Given the description of an element on the screen output the (x, y) to click on. 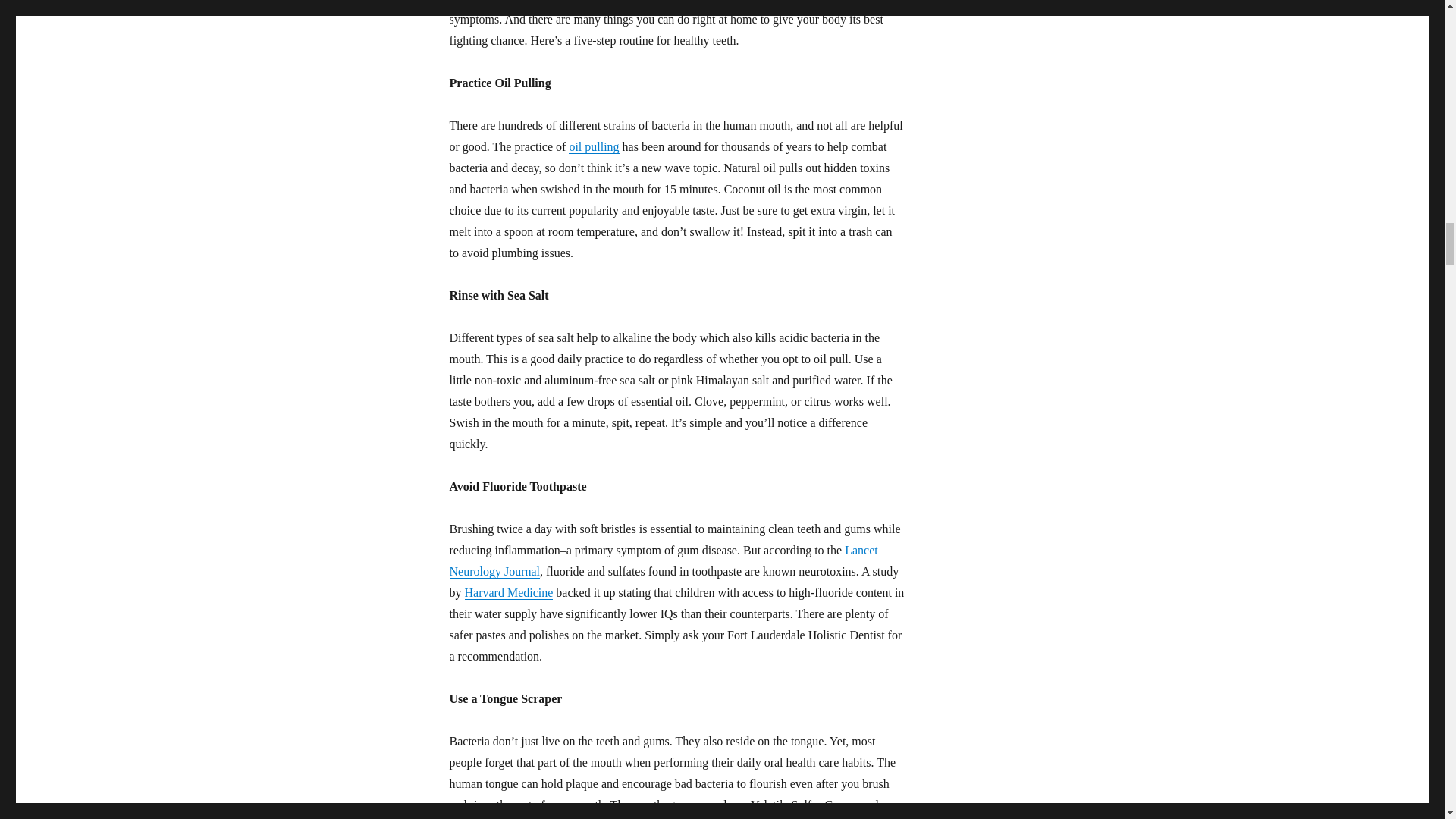
Harvard Medicine (508, 592)
oil pulling (593, 146)
Lancet Neurology Journal (662, 560)
